Given the description of an element on the screen output the (x, y) to click on. 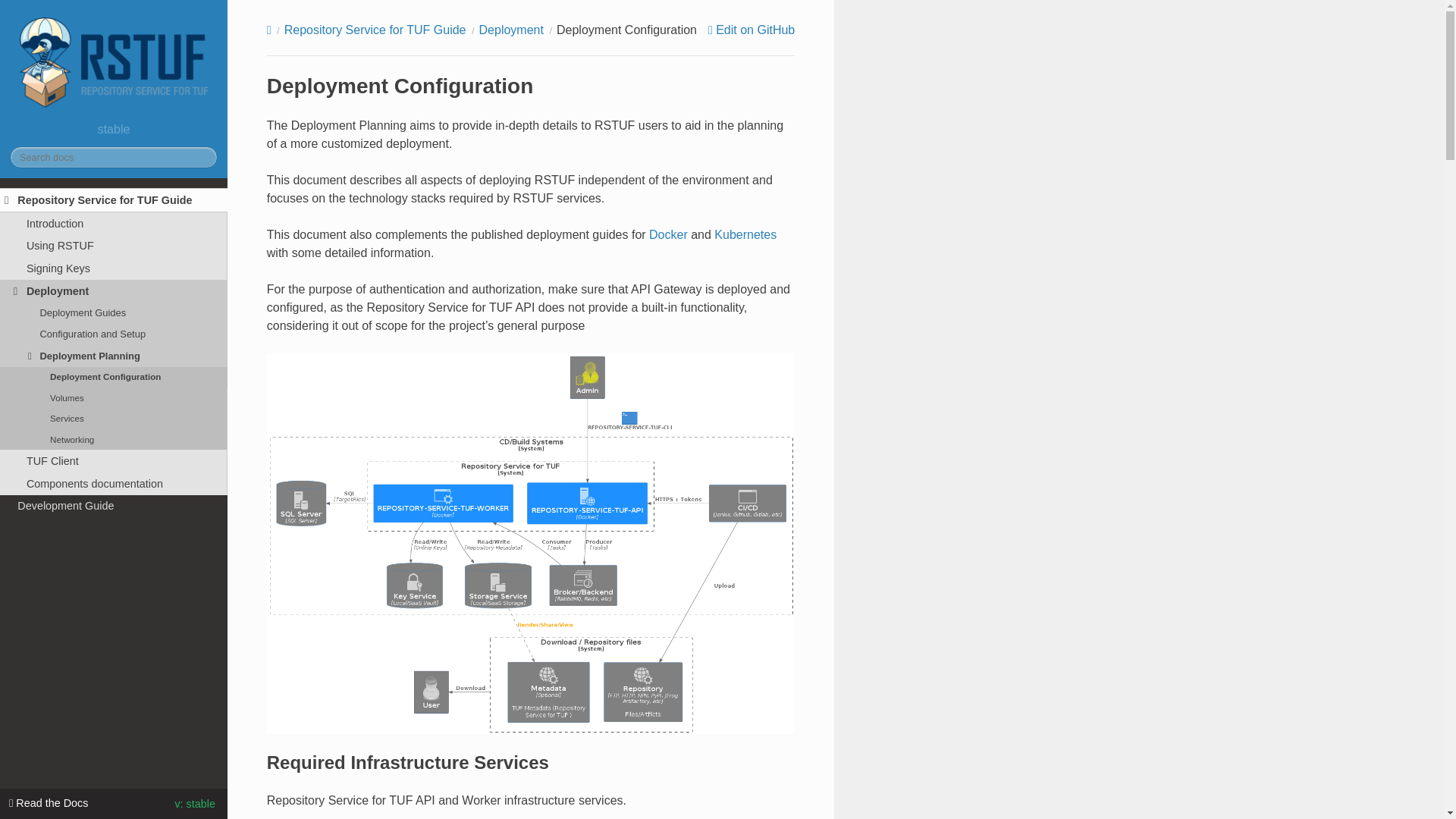
Using RSTUF (113, 245)
Repository Service for TUF Guide (113, 200)
Docker (668, 234)
Edit on GitHub (750, 30)
Signing Keys (113, 268)
Development Guide (113, 506)
Networking (113, 439)
Deployment (113, 291)
Introduction (113, 223)
Deployment Configuration (113, 376)
Components documentation (113, 483)
Deployment Guides (113, 312)
Configuration and Setup (113, 333)
Volumes (113, 397)
Services (113, 418)
